Given the description of an element on the screen output the (x, y) to click on. 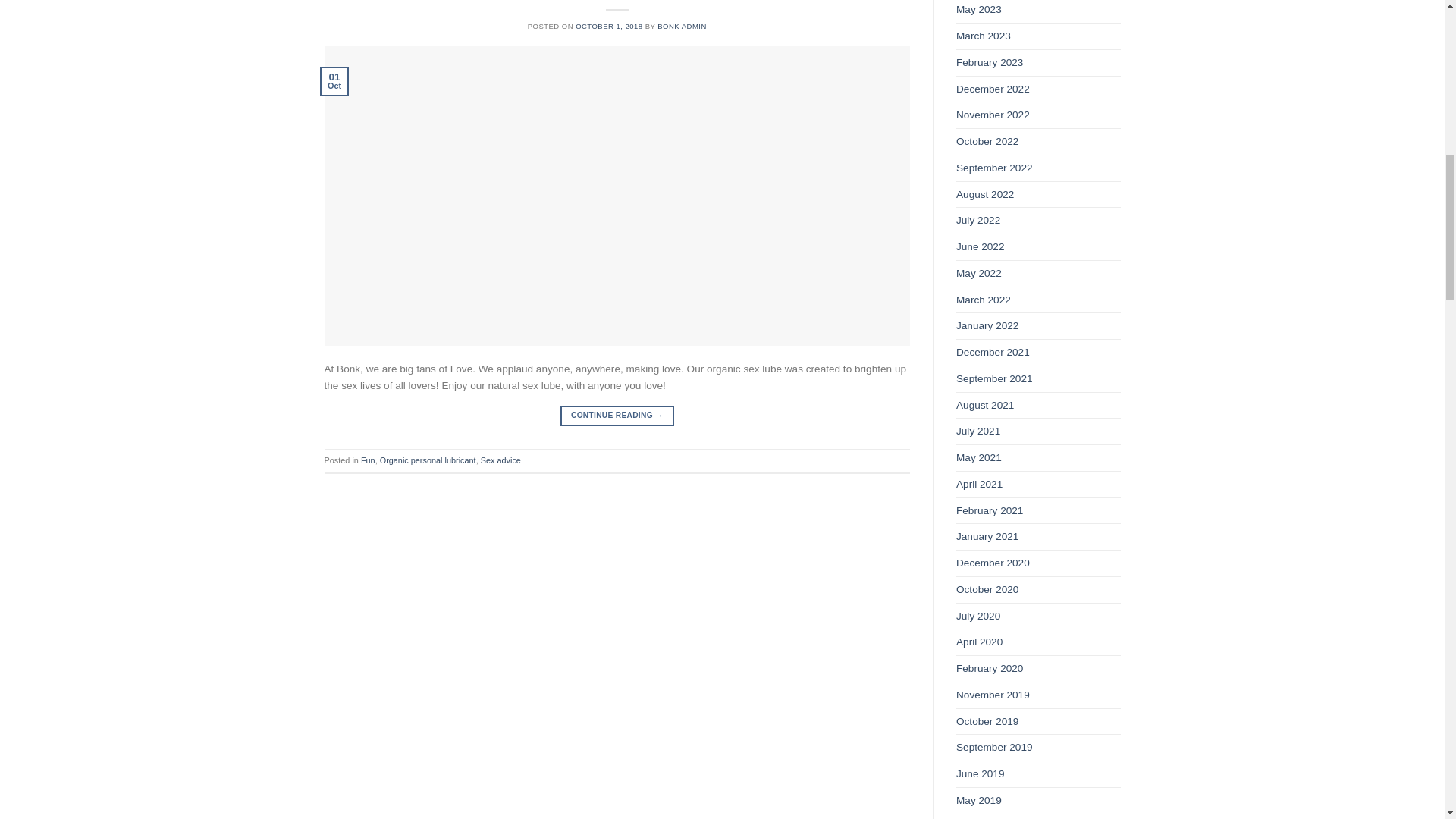
BONK ADMIN (682, 26)
OCTOBER 1, 2018 (608, 26)
Organic personal lubricant (428, 460)
Sex advice (500, 460)
Fun (368, 460)
